Given the description of an element on the screen output the (x, y) to click on. 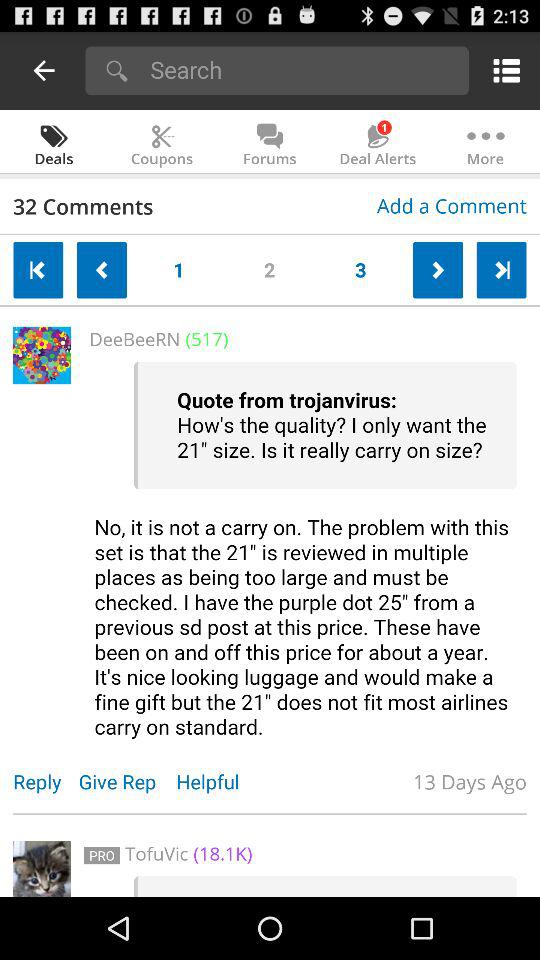
turn on item to the left of the give rep (45, 781)
